Given the description of an element on the screen output the (x, y) to click on. 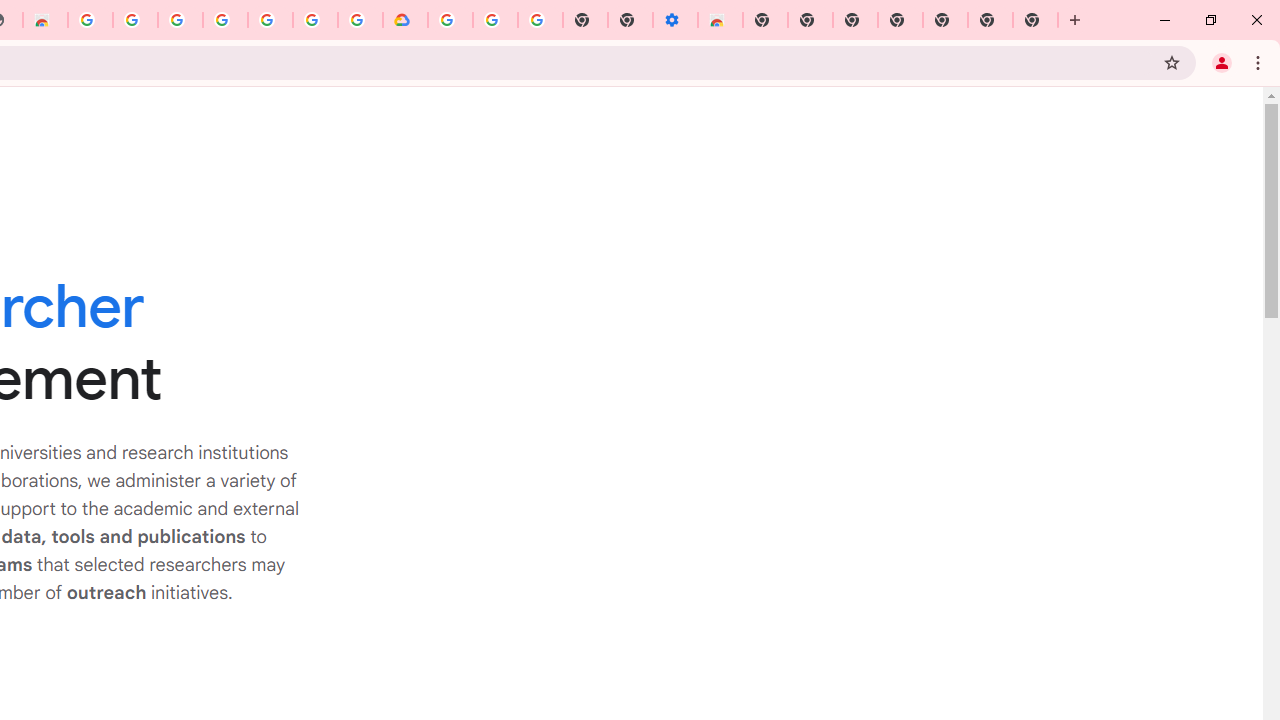
New Tab (1035, 20)
Sign in - Google Accounts (450, 20)
New Tab (765, 20)
Google Account Help (495, 20)
Chrome Web Store - Accessibility extensions (720, 20)
Turn cookies on or off - Computer - Google Account Help (540, 20)
Settings - Accessibility (674, 20)
